Given the description of an element on the screen output the (x, y) to click on. 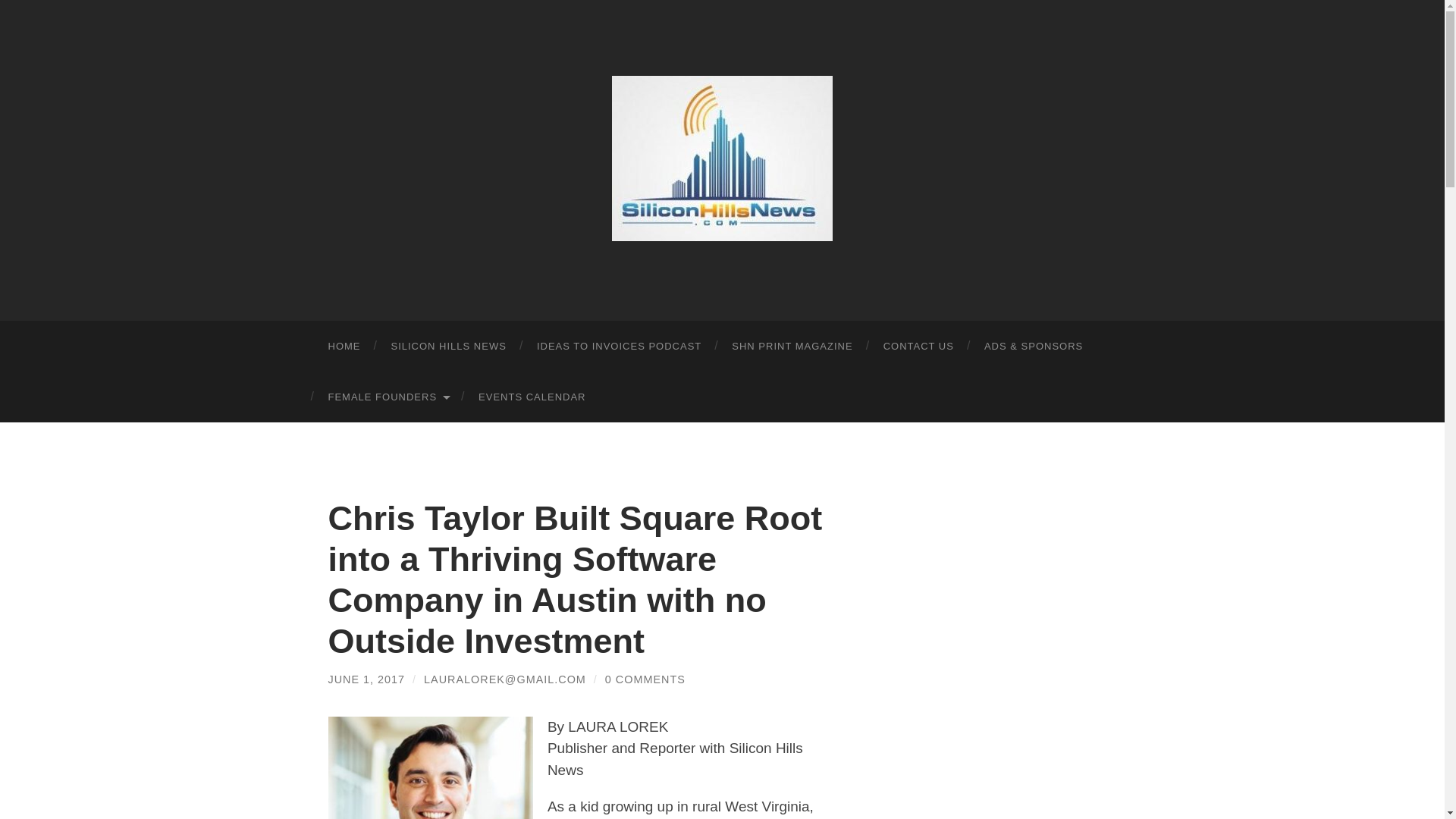
IDEAS TO INVOICES PODCAST (618, 346)
SHN PRINT MAGAZINE (791, 346)
0 COMMENTS (645, 679)
CONTACT US (918, 346)
SILICON HILLS NEWS (448, 346)
SiliconHills (721, 158)
JUNE 1, 2017 (365, 679)
FEMALE FOUNDERS (388, 396)
HOME (344, 346)
EVENTS CALENDAR (531, 396)
